Given the description of an element on the screen output the (x, y) to click on. 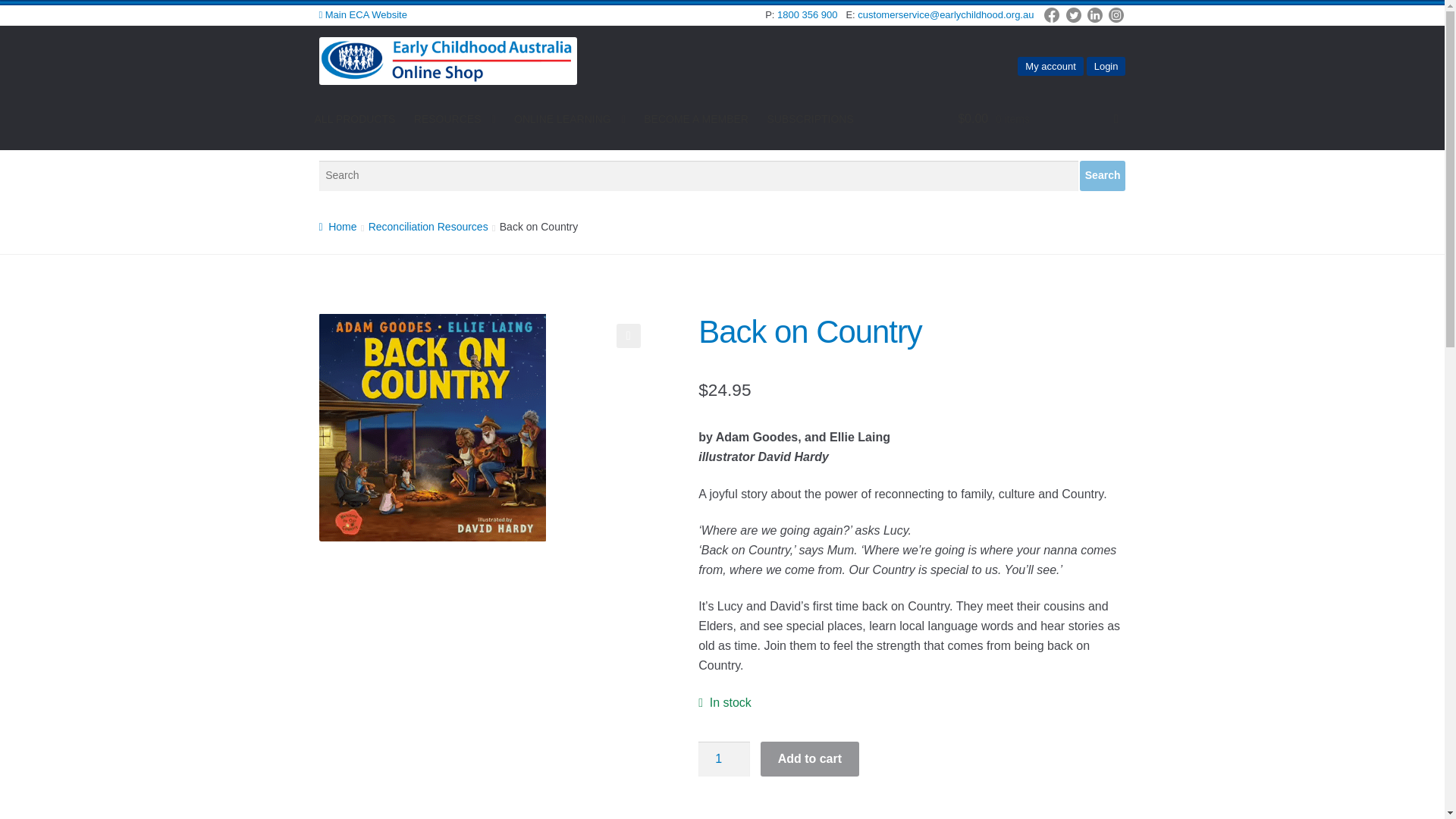
LinkedIn (1094, 20)
Main ECA Website (362, 14)
RESOURCES (454, 119)
ALL PRODUCTS (355, 119)
Back to country (432, 426)
View your shopping cart (1037, 118)
1800 356 900 (807, 14)
Instagram (1115, 20)
BECOME A MEMBER (695, 119)
PayPal Message 1 (911, 813)
My account (1050, 66)
SUBSCRIPTIONS (809, 119)
Twitter (1073, 20)
1 (723, 759)
